Given the description of an element on the screen output the (x, y) to click on. 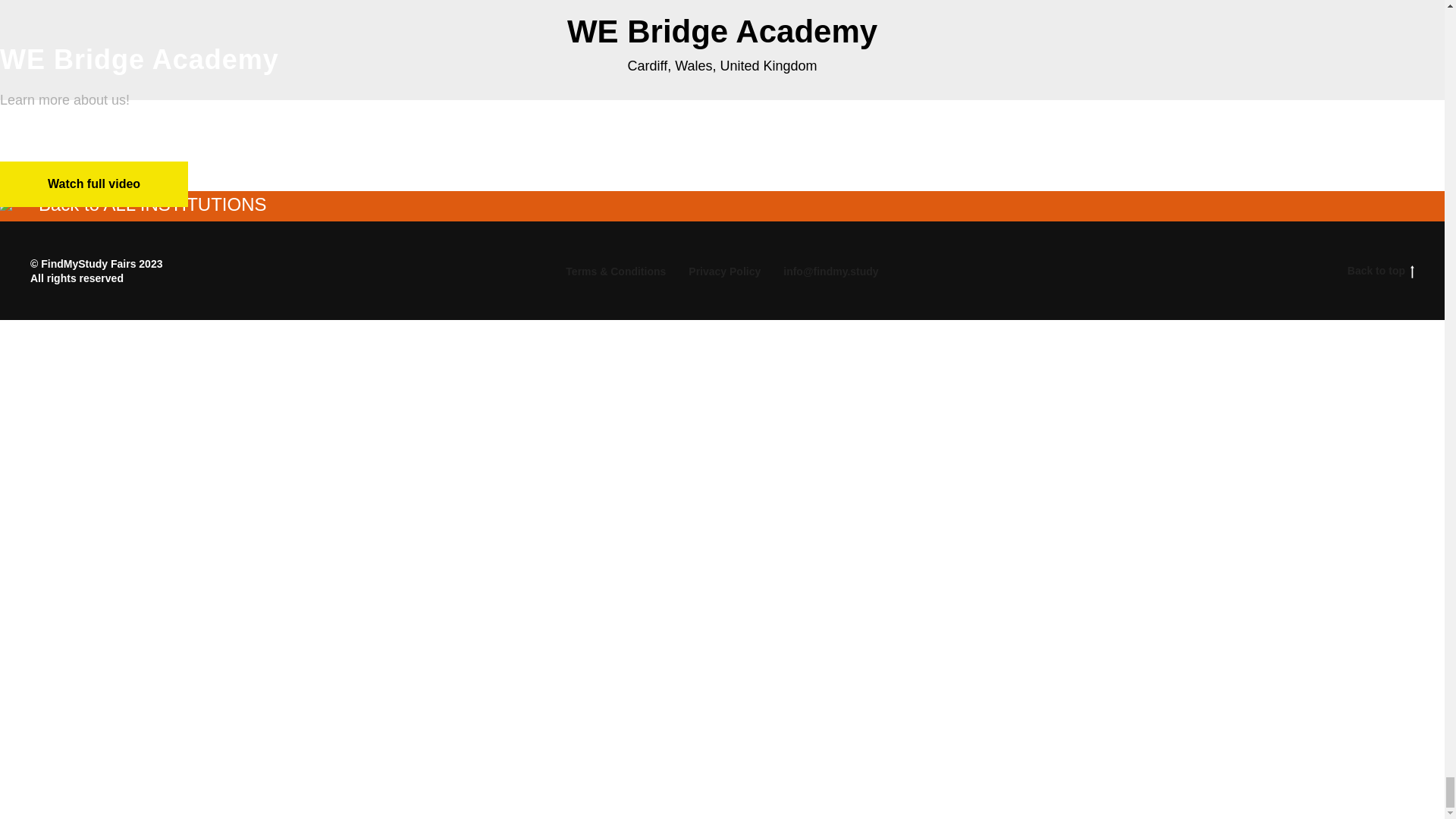
Back to top (1318, 270)
Back to ALL INSTITUTIONS (133, 205)
Watch full video (93, 184)
Back to top (1380, 270)
Back to top (1380, 270)
Privacy Policy (724, 271)
